Given the description of an element on the screen output the (x, y) to click on. 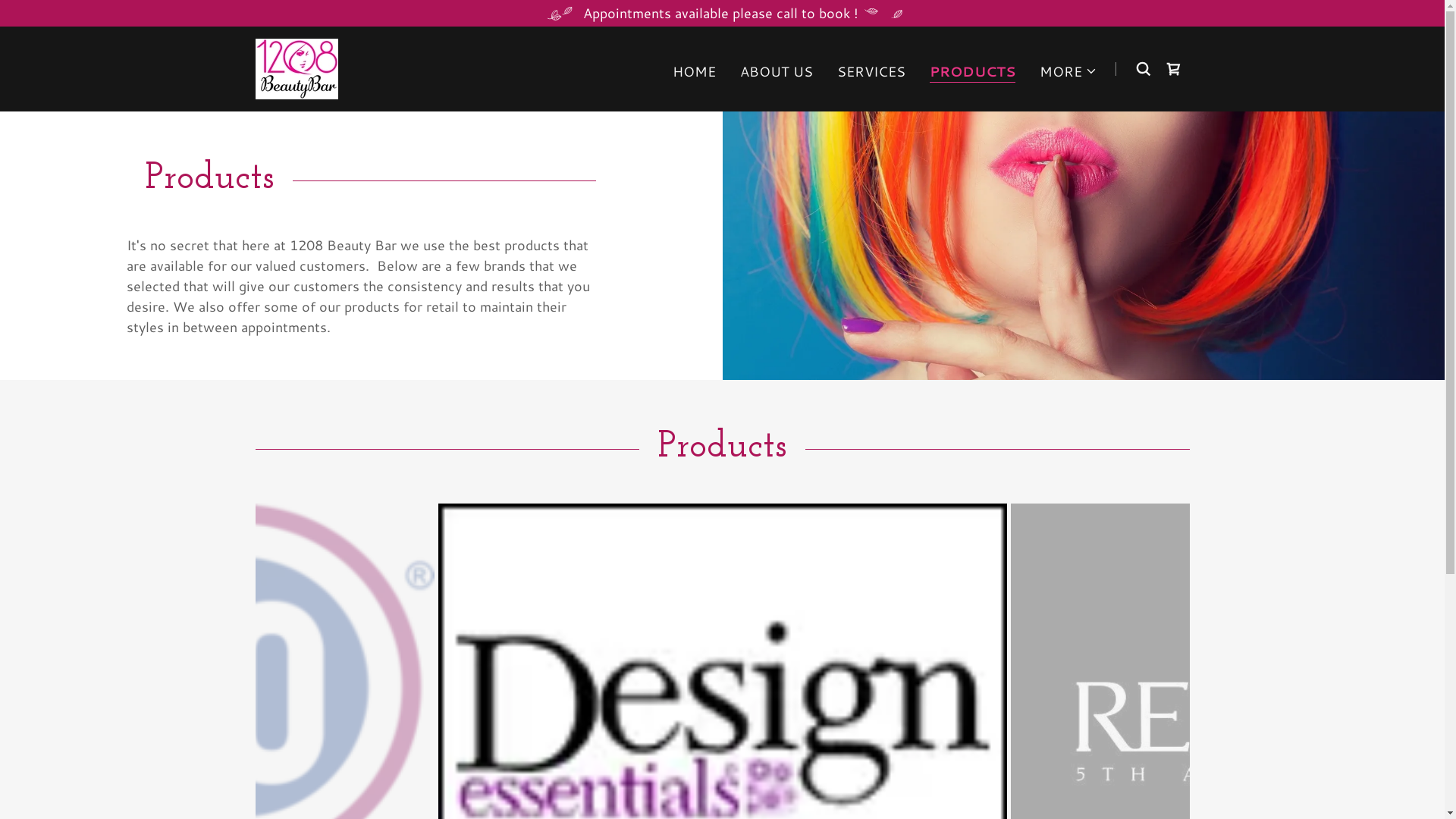
HOME Element type: text (694, 70)
PRODUCTS Element type: text (972, 72)
ABOUT US Element type: text (776, 70)
MORE Element type: text (1068, 71)
SERVICES Element type: text (871, 70)
1208 Beauty Bar Element type: hover (295, 66)
